Given the description of an element on the screen output the (x, y) to click on. 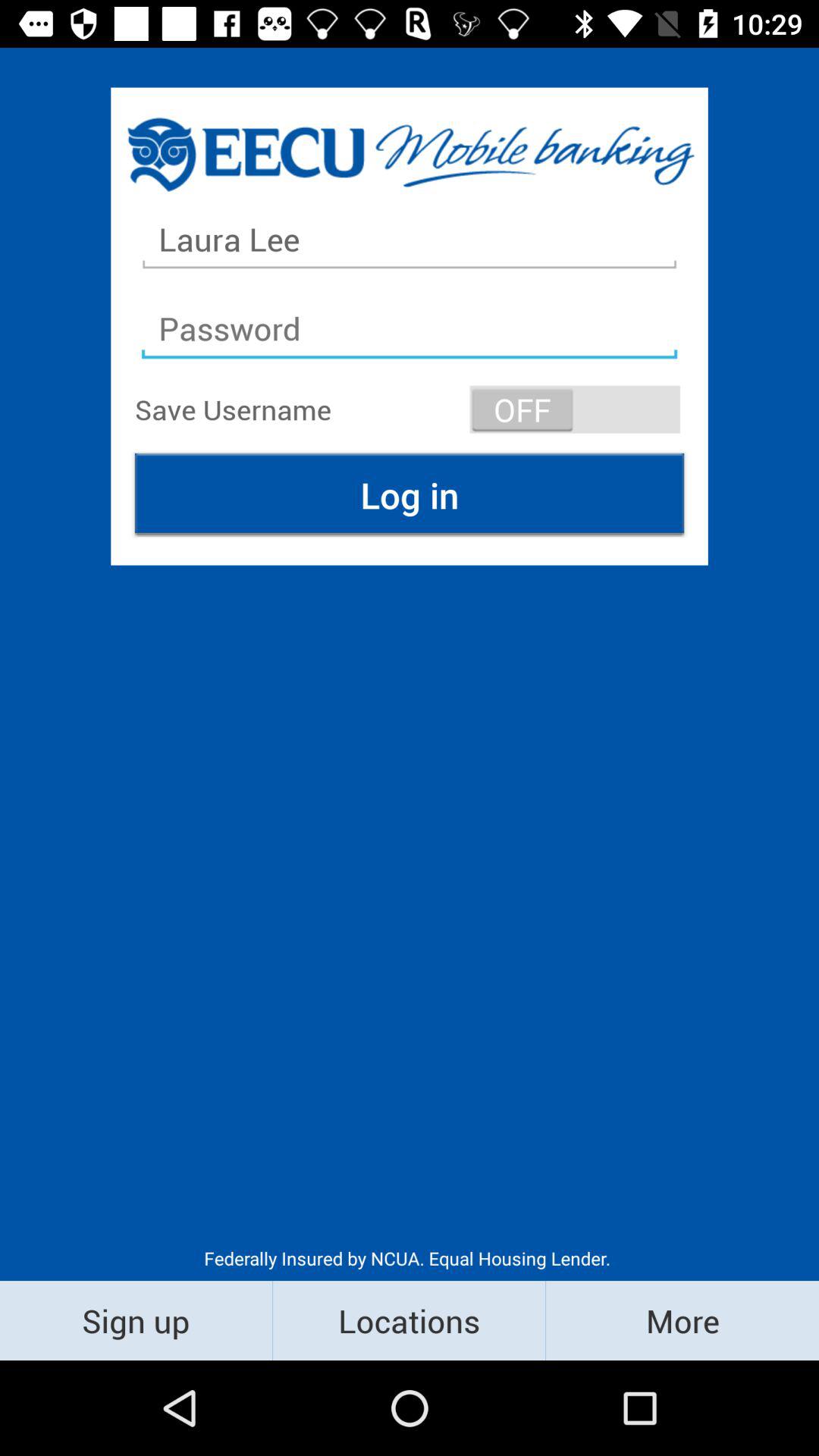
open icon to the right of sign up icon (409, 1320)
